Given the description of an element on the screen output the (x, y) to click on. 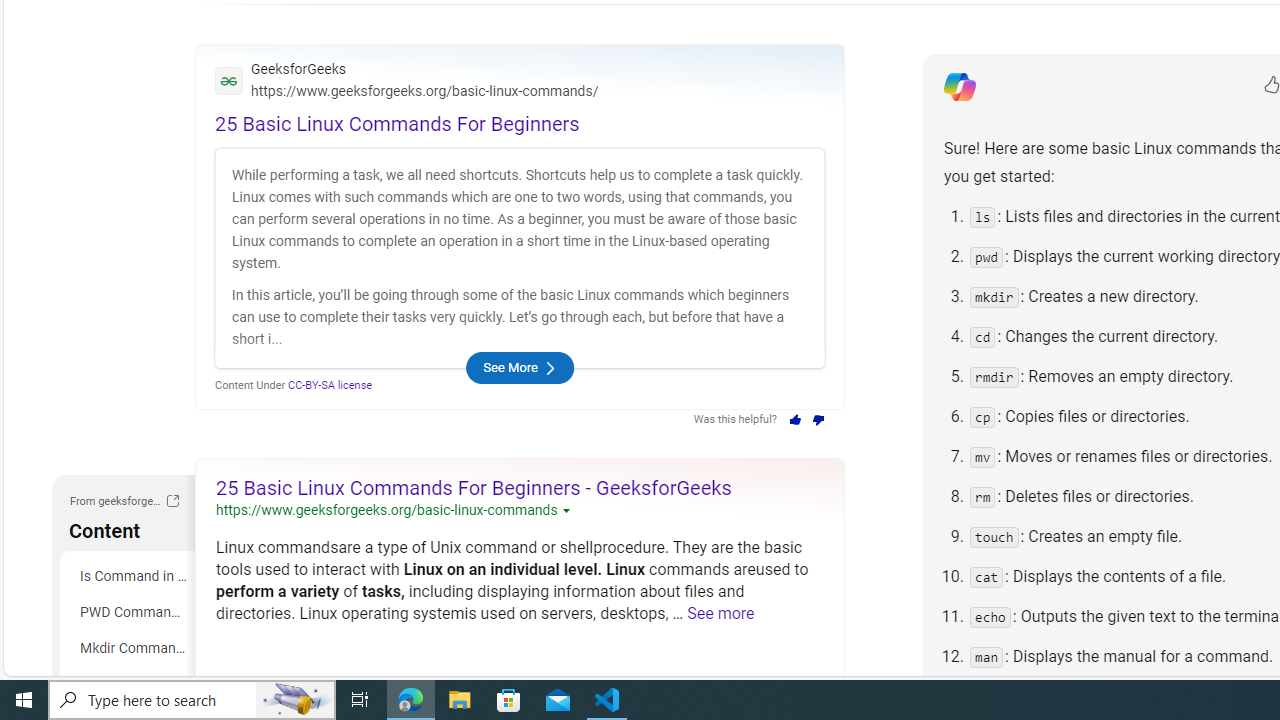
Is Command in Linux (130, 576)
From geeksforgeeks.org (172, 503)
Mkdir Command in Linux (130, 648)
